Given the description of an element on the screen output the (x, y) to click on. 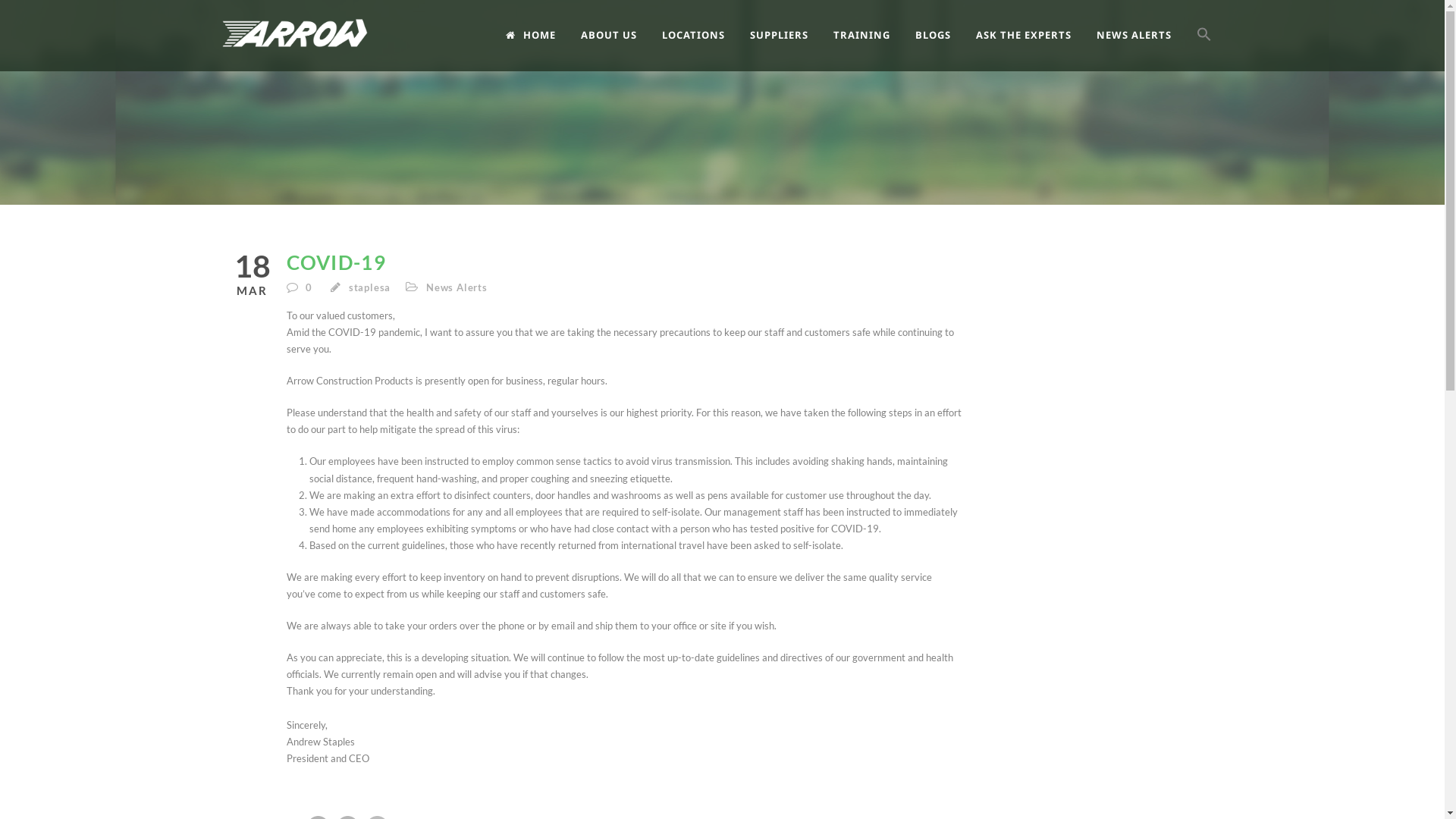
SUPPLIERS Element type: text (790, 47)
NEWS ALERTS Element type: text (1146, 47)
ASK THE EXPERTS Element type: text (1035, 47)
TRAINING Element type: text (873, 47)
LOCATIONS Element type: text (705, 47)
0 Element type: text (310, 287)
HOME Element type: text (542, 47)
staplesa Element type: text (369, 287)
ABOUT US Element type: text (621, 47)
News Alerts Element type: text (456, 287)
BLOGS Element type: text (944, 47)
